Given the description of an element on the screen output the (x, y) to click on. 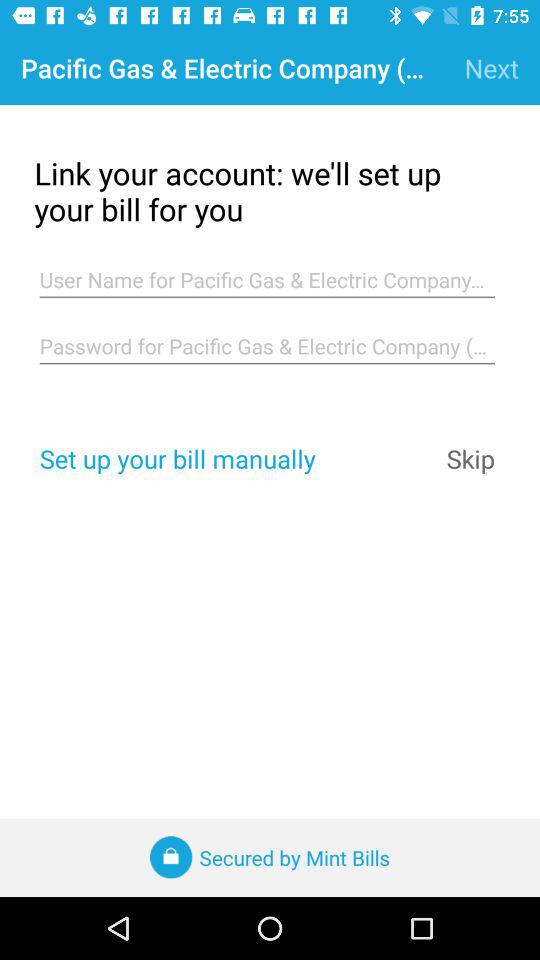
username for login (267, 280)
